Given the description of an element on the screen output the (x, y) to click on. 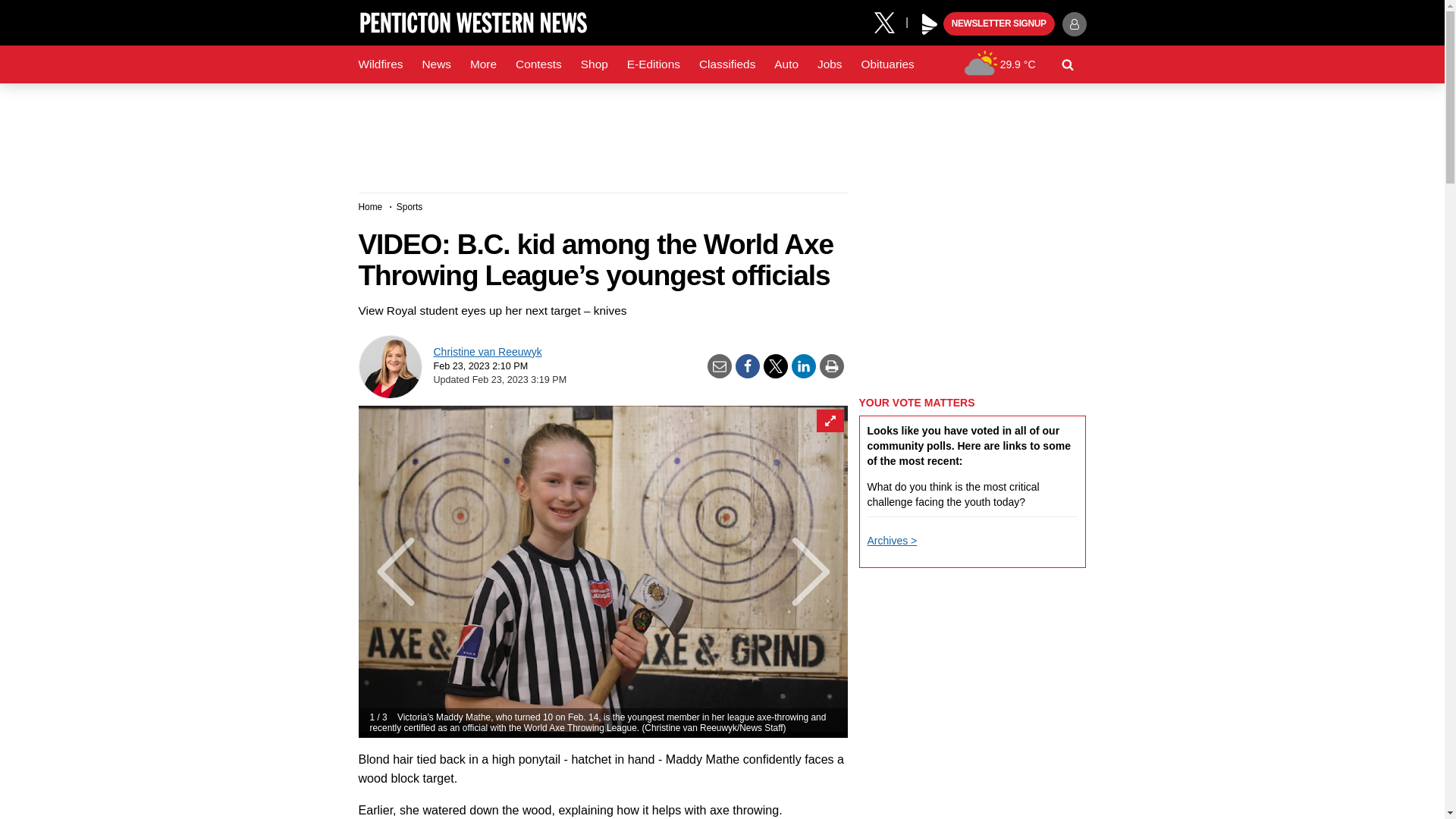
Play (929, 24)
Wildfires (380, 64)
Expand (829, 420)
X (889, 21)
News (435, 64)
Black Press Media (929, 24)
NEWSLETTER SIGNUP (998, 24)
